Given the description of an element on the screen output the (x, y) to click on. 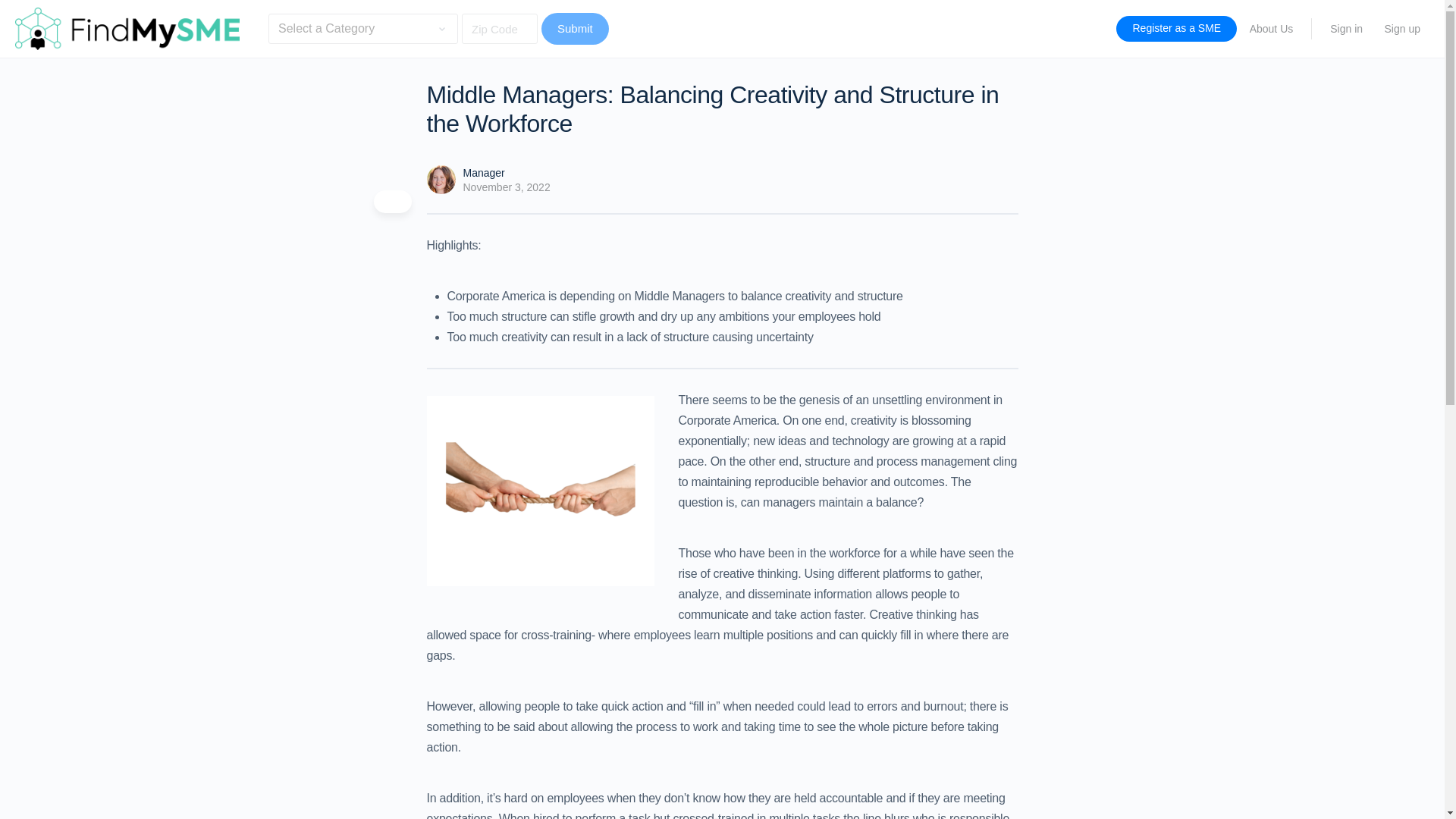
Submit (574, 29)
Sign up (1402, 28)
Sign in (1345, 28)
Manager (483, 173)
November 3, 2022 (506, 186)
About Us (1271, 28)
Submit (574, 29)
Register as a SME (1176, 28)
